Given the description of an element on the screen output the (x, y) to click on. 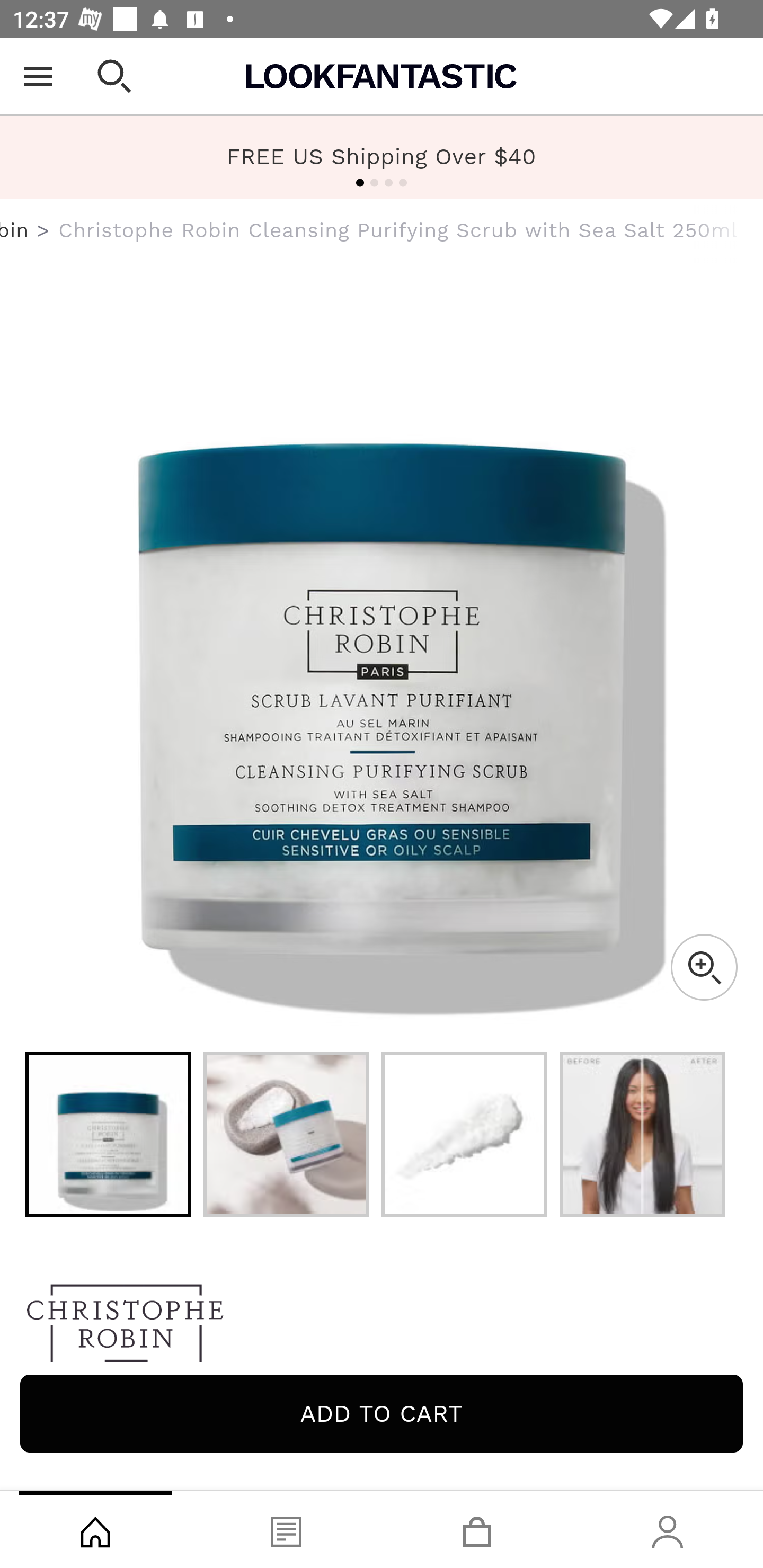
Open Menu (38, 75)
Open search (114, 75)
Lookfantastic USA (381, 75)
FREE US Shipping Over $40 (381, 157)
FREE US Shipping Over $40 (381, 155)
Christophe Robin (15, 230)
Zoom (703, 966)
Christophe Robin (381, 1327)
Add to cart (381, 1413)
Shop, tab, 1 of 4 (95, 1529)
Blog, tab, 2 of 4 (285, 1529)
Basket, tab, 3 of 4 (476, 1529)
Account, tab, 4 of 4 (667, 1529)
